Given the description of an element on the screen output the (x, y) to click on. 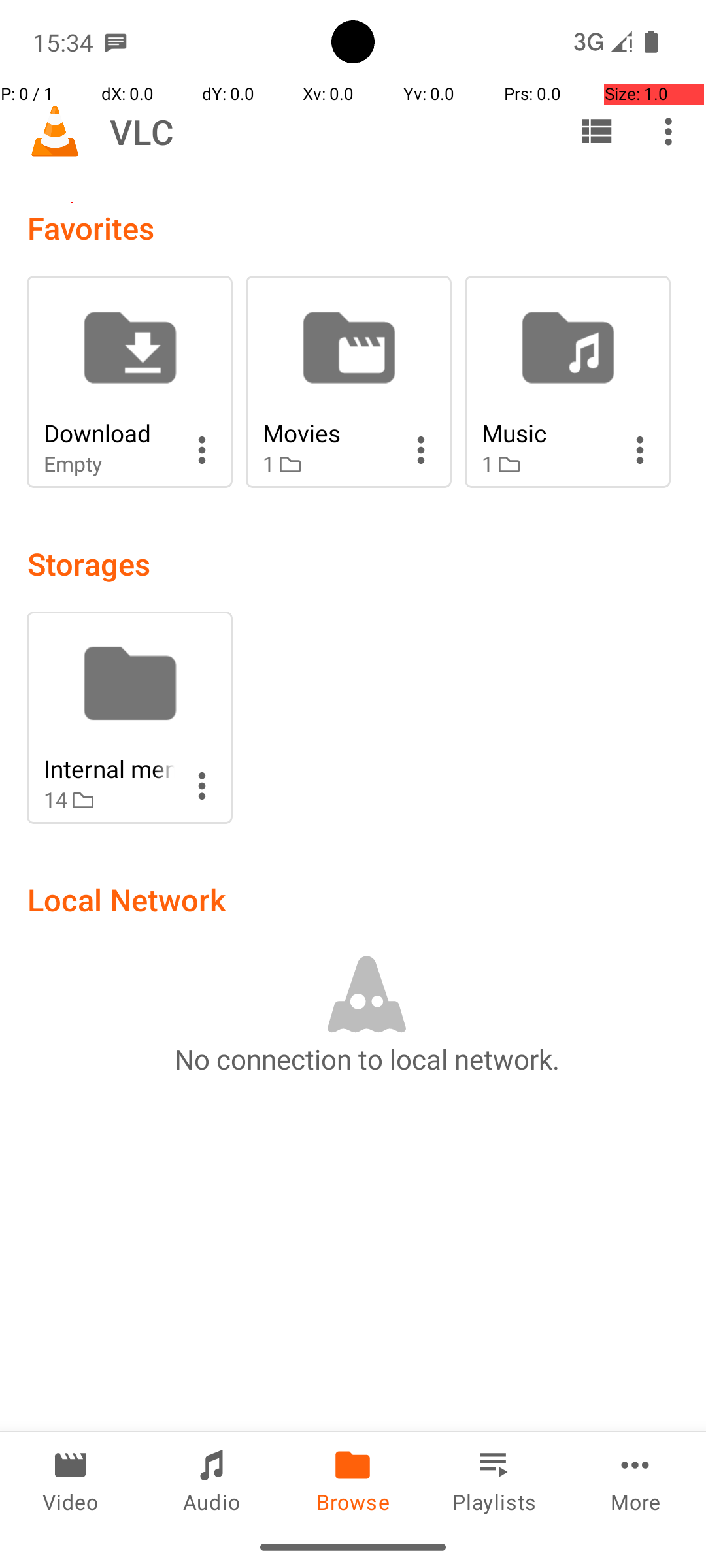
Display in list Element type: android.widget.TextView (595, 131)
Storages Element type: android.widget.TextView (88, 563)
Local Network Element type: android.widget.TextView (126, 898)
No connection to local network. Element type: android.widget.TextView (366, 1058)
Favorite: Download, Empty Element type: androidx.cardview.widget.CardView (129, 381)
Favorite: Movies, 1 subfolder Element type: androidx.cardview.widget.CardView (348, 381)
Favorite: Music, 1 subfolder Element type: androidx.cardview.widget.CardView (567, 381)
Folder: Internal memory, 14 subfolders Element type: androidx.cardview.widget.CardView (129, 717)
Empty Element type: android.widget.TextView (108, 463)
More Actions Element type: android.widget.ImageView (201, 449)
Movies Element type: android.widget.TextView (327, 432)
1 §*§ Element type: android.widget.TextView (327, 463)
Internal memory Element type: android.widget.TextView (108, 768)
14 §*§ Element type: android.widget.TextView (108, 799)
